Given the description of an element on the screen output the (x, y) to click on. 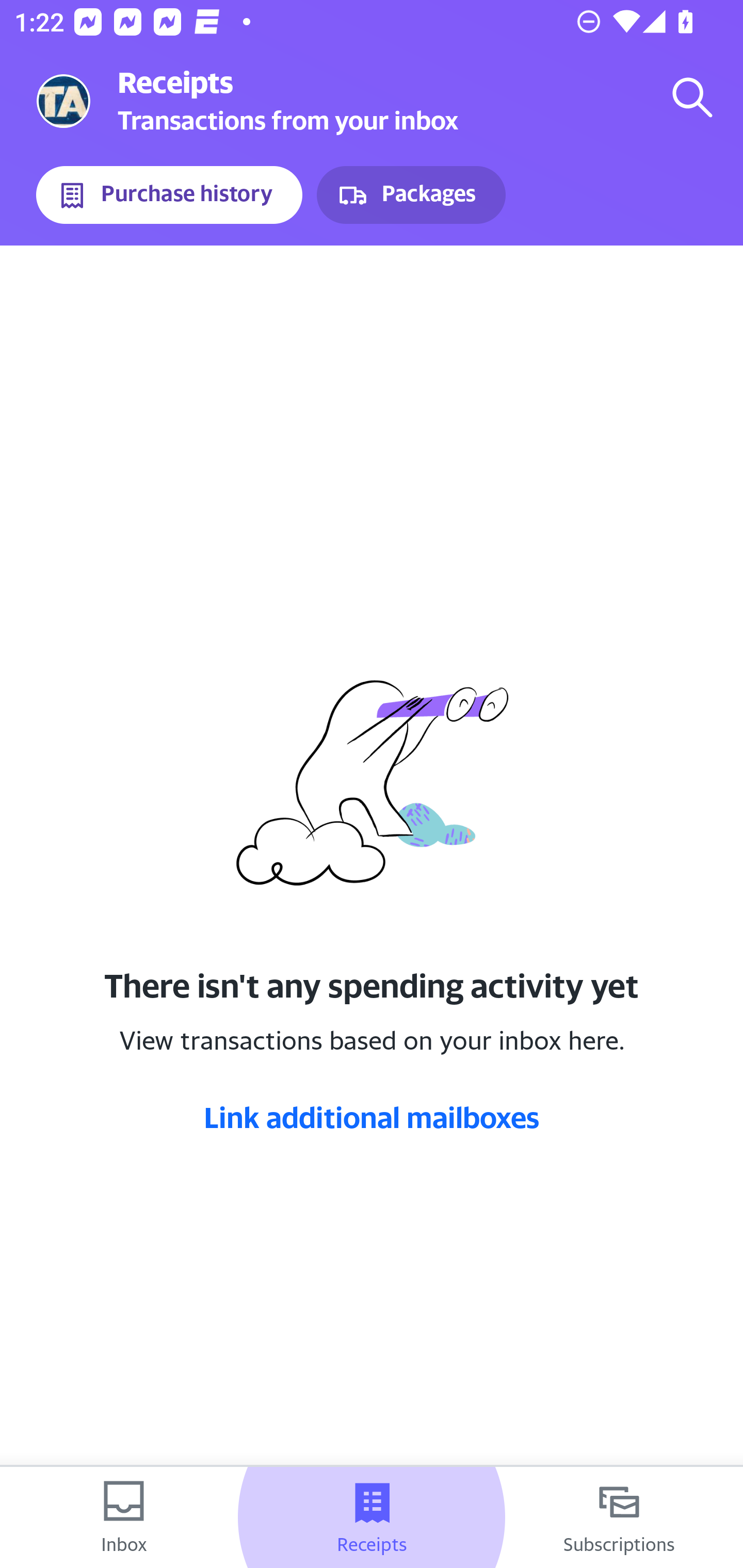
Search mail (692, 97)
Packages (410, 195)
Link additional mailboxes (371, 1117)
Inbox (123, 1517)
Receipts (371, 1517)
Subscriptions (619, 1517)
